Given the description of an element on the screen output the (x, y) to click on. 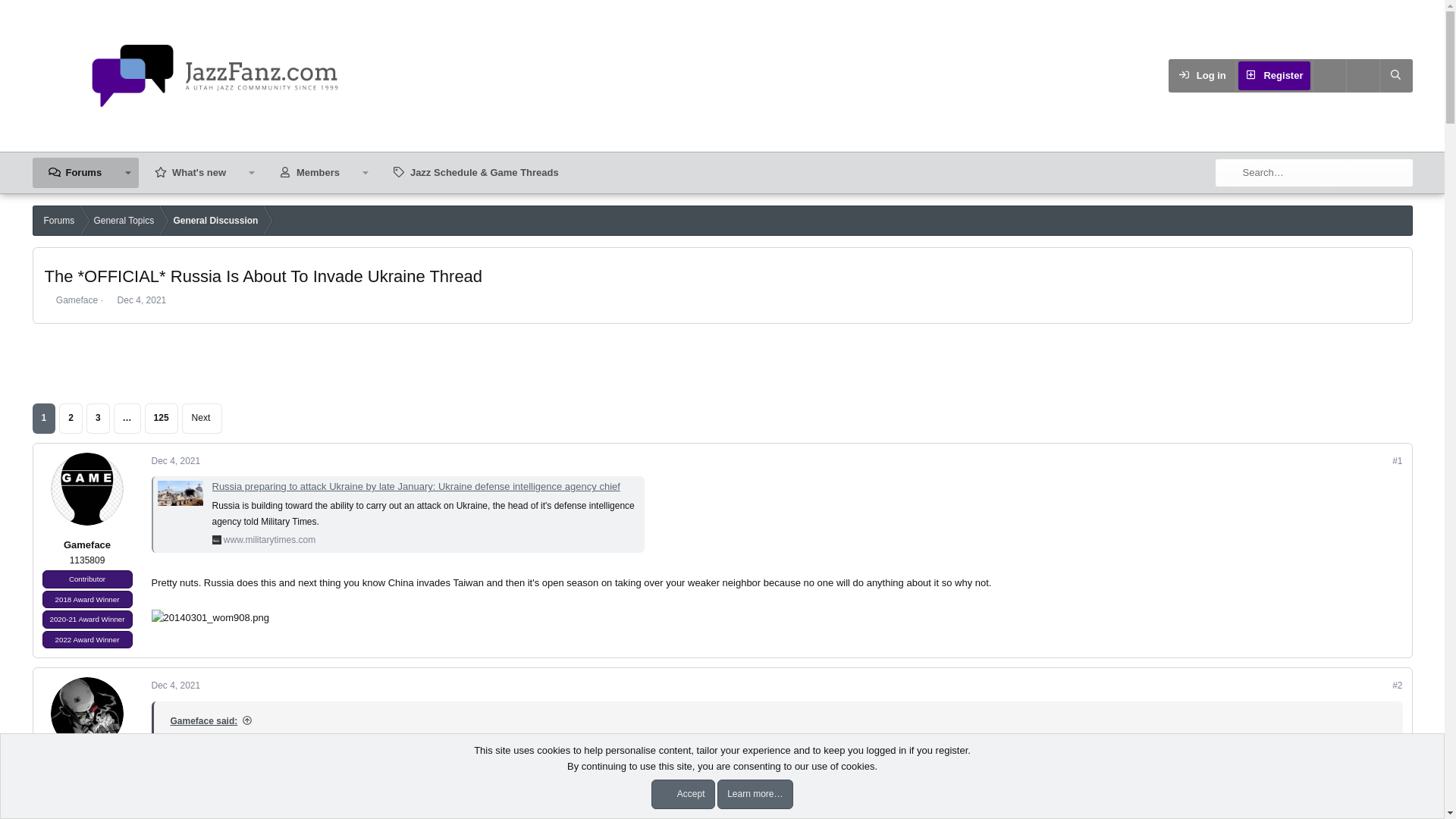
Thread starter (47, 299)
What's new (189, 173)
Dec 4, 2021 at 7:59 PM (175, 685)
Dec 4, 2021 at 7:37 PM (175, 460)
Search (1395, 75)
Members (309, 173)
Log in (1201, 75)
Register (1273, 75)
Forums (74, 173)
Start date (109, 299)
